Given the description of an element on the screen output the (x, y) to click on. 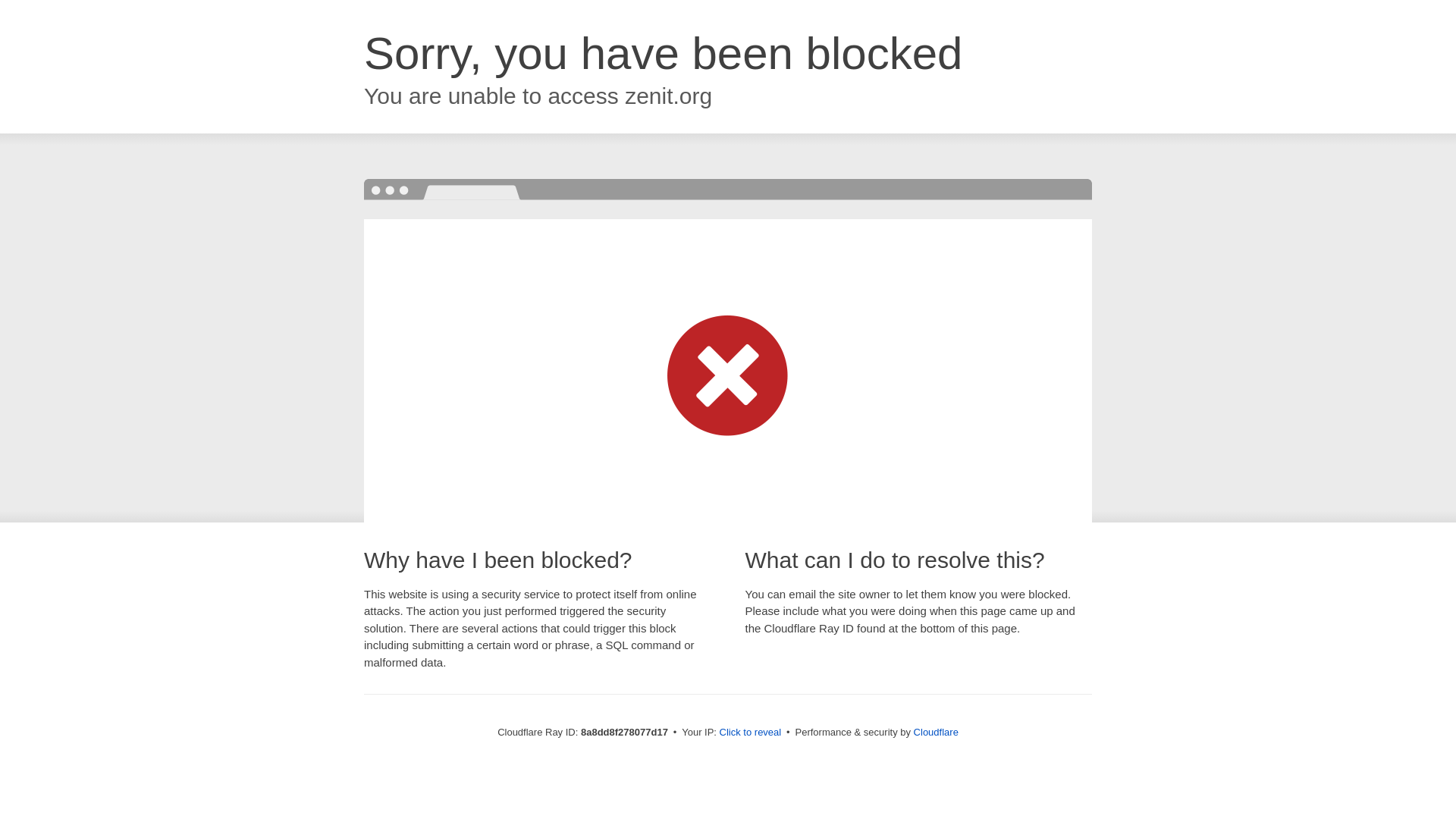
Click to reveal (750, 732)
Cloudflare (936, 731)
